Given the description of an element on the screen output the (x, y) to click on. 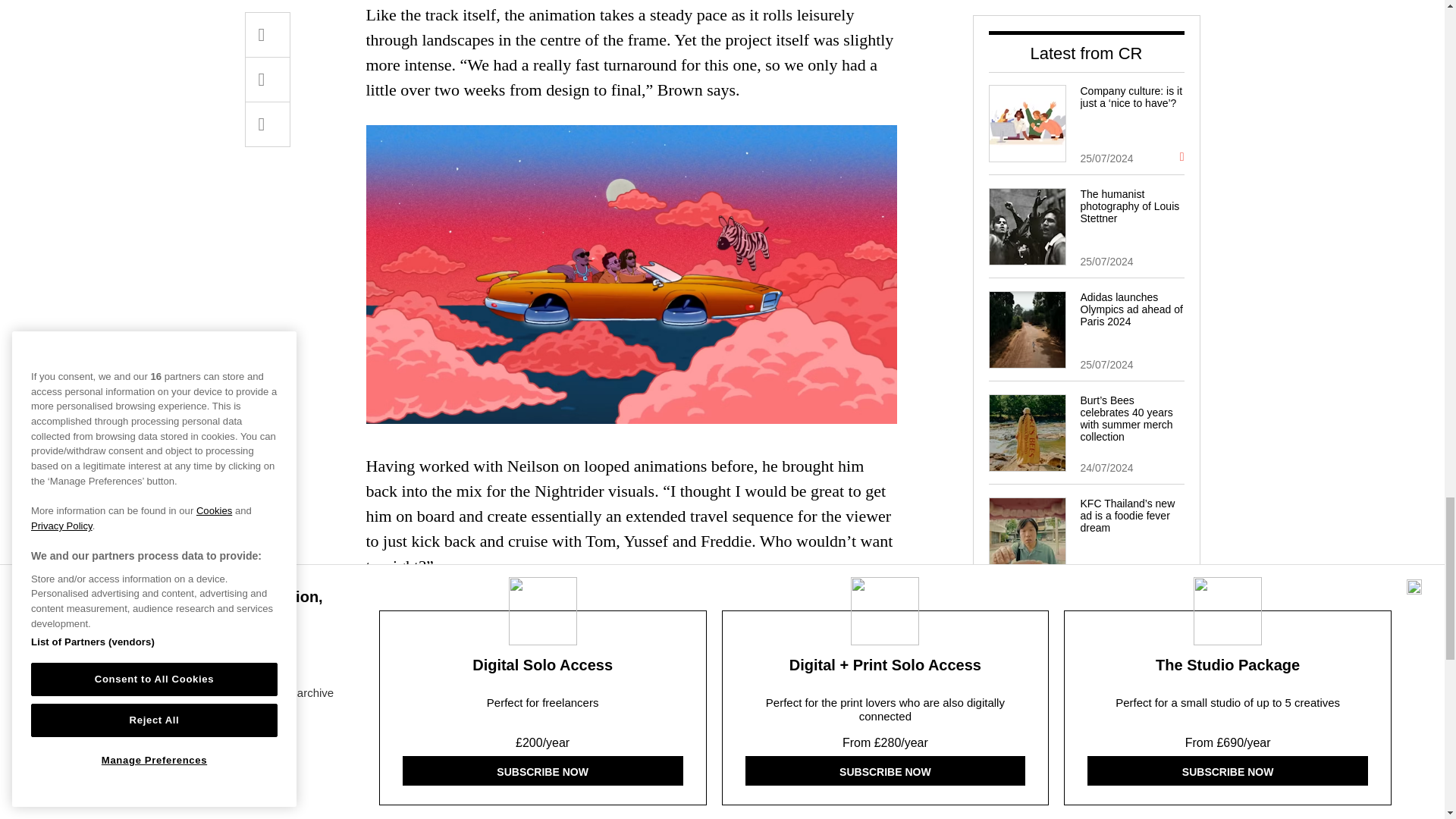
Music Video (607, 741)
Creative Inspiration (422, 741)
Animation (523, 741)
